Given the description of an element on the screen output the (x, y) to click on. 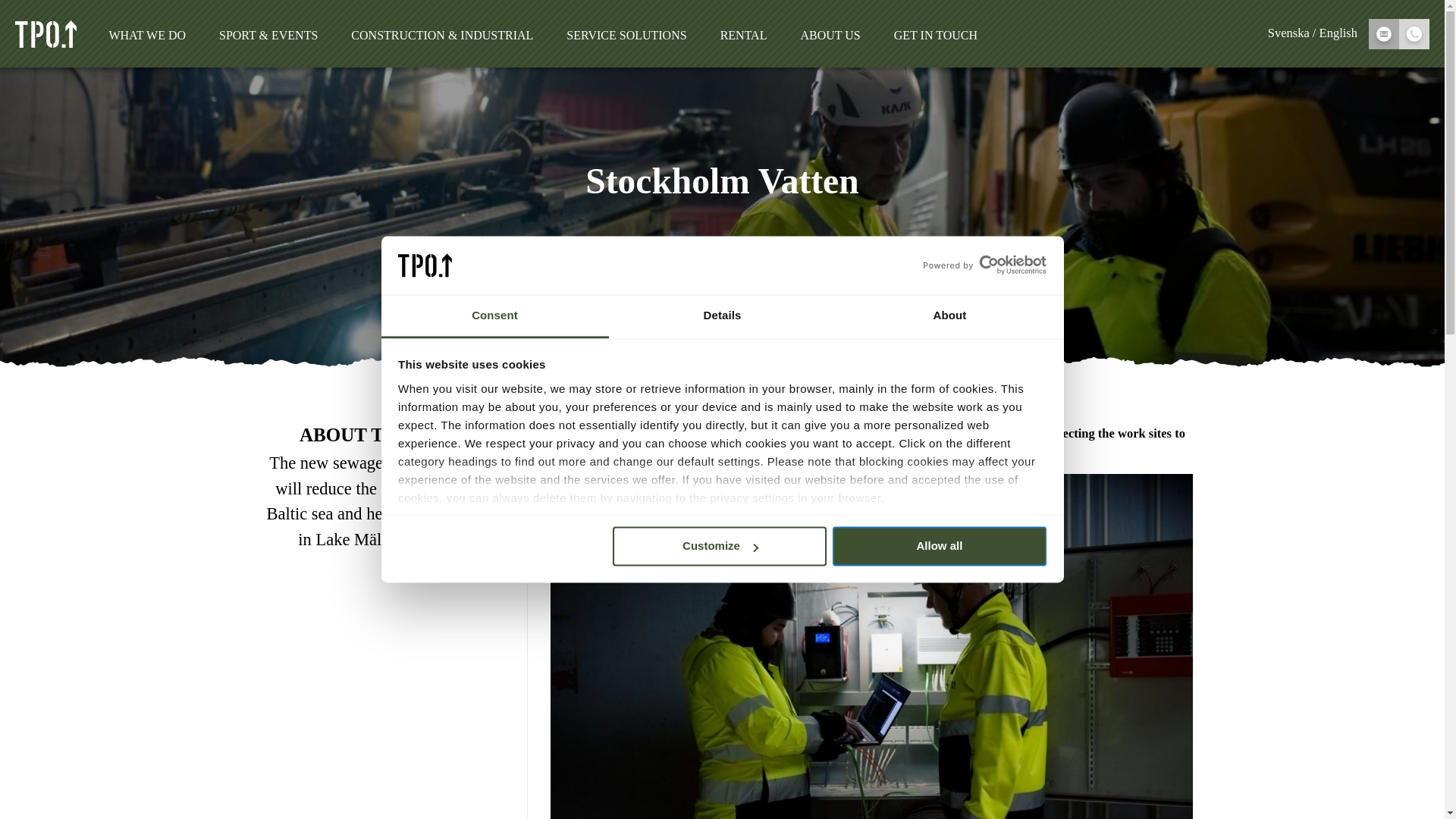
Allow all (939, 546)
SERVICE SOLUTIONS (625, 35)
Consent (494, 316)
Customize (719, 546)
Details (721, 316)
WHAT WE DO (146, 35)
About (948, 316)
